Given the description of an element on the screen output the (x, y) to click on. 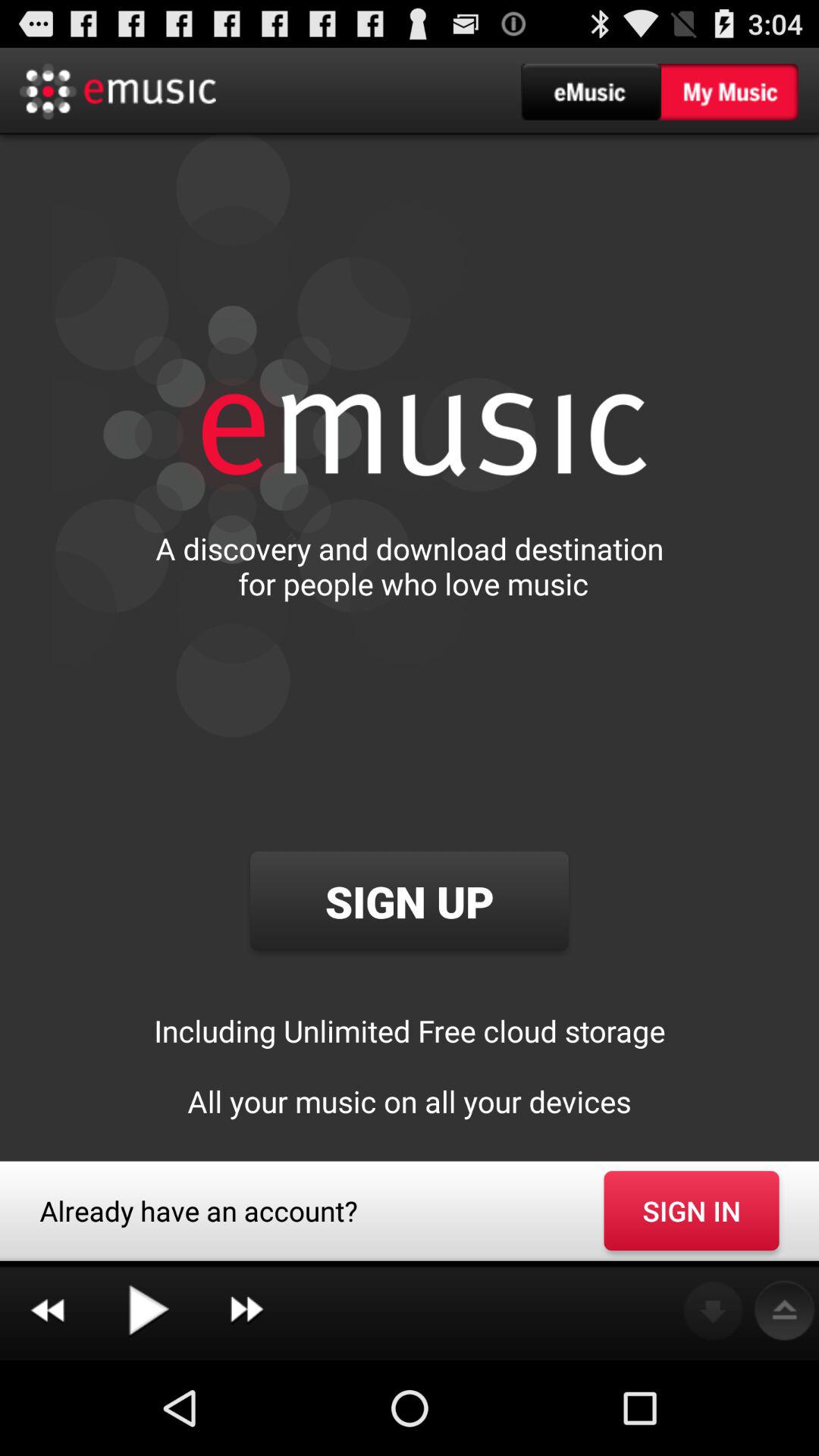
flip to the sign up (409, 900)
